Given the description of an element on the screen output the (x, y) to click on. 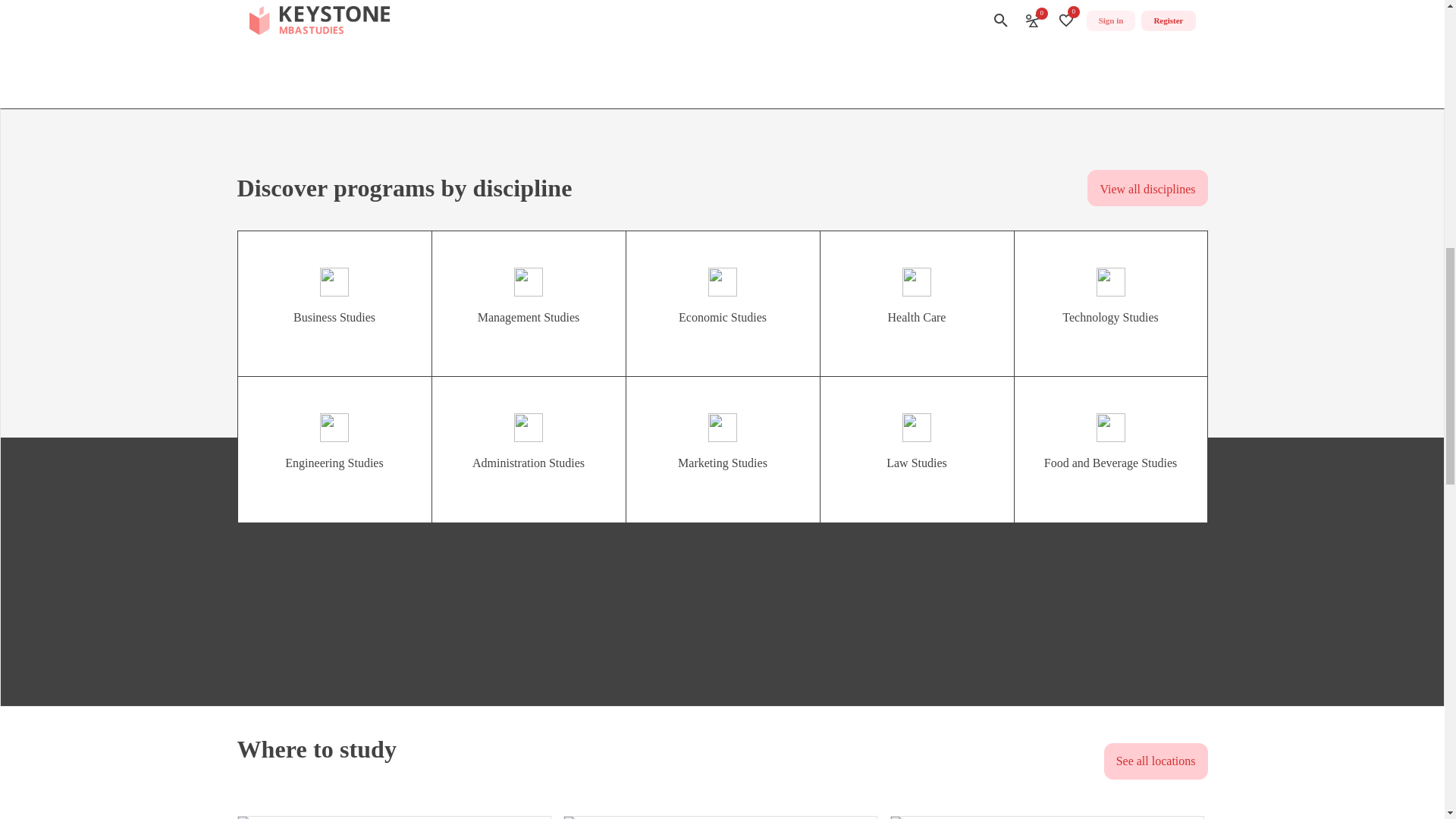
View all disciplines (1147, 187)
